Given the description of an element on the screen output the (x, y) to click on. 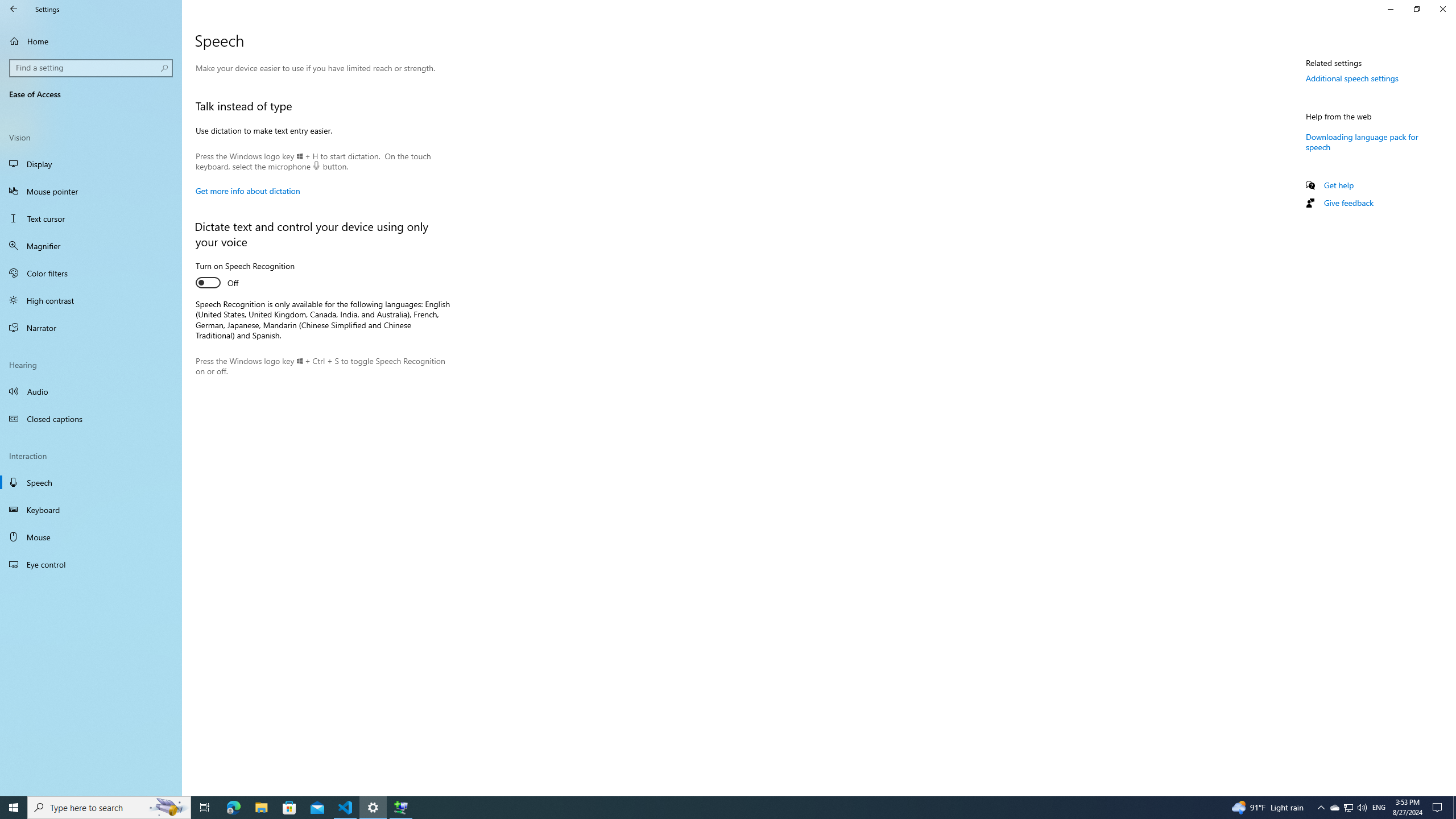
Mouse (91, 536)
Extensible Wizards Host Process - 1 running window (400, 807)
Get more info about dictation (247, 190)
Speech (91, 482)
Color filters (91, 272)
